Given the description of an element on the screen output the (x, y) to click on. 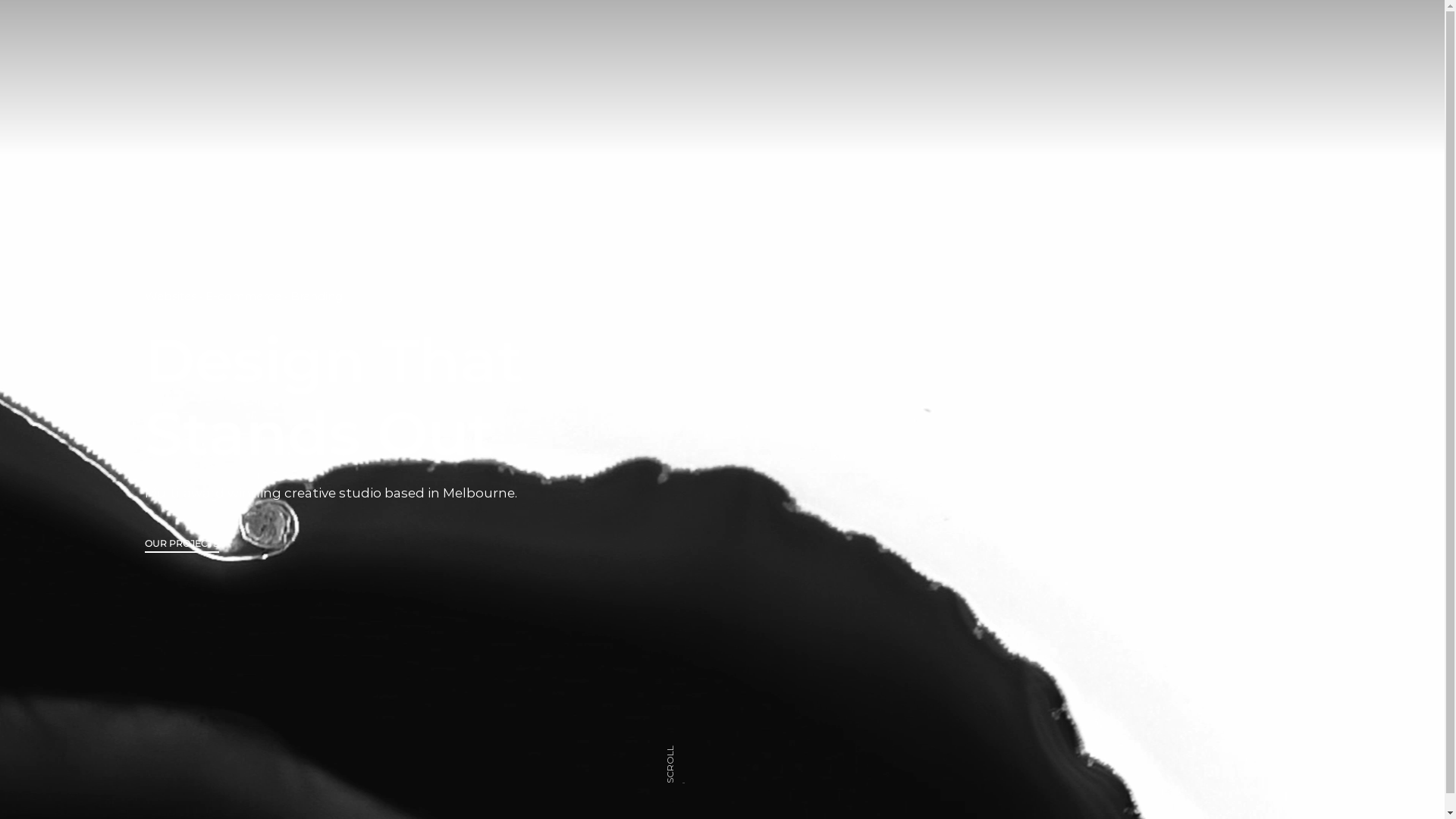
OUR PROJECTS Element type: text (181, 545)
SCROLL Element type: text (684, 753)
